Given the description of an element on the screen output the (x, y) to click on. 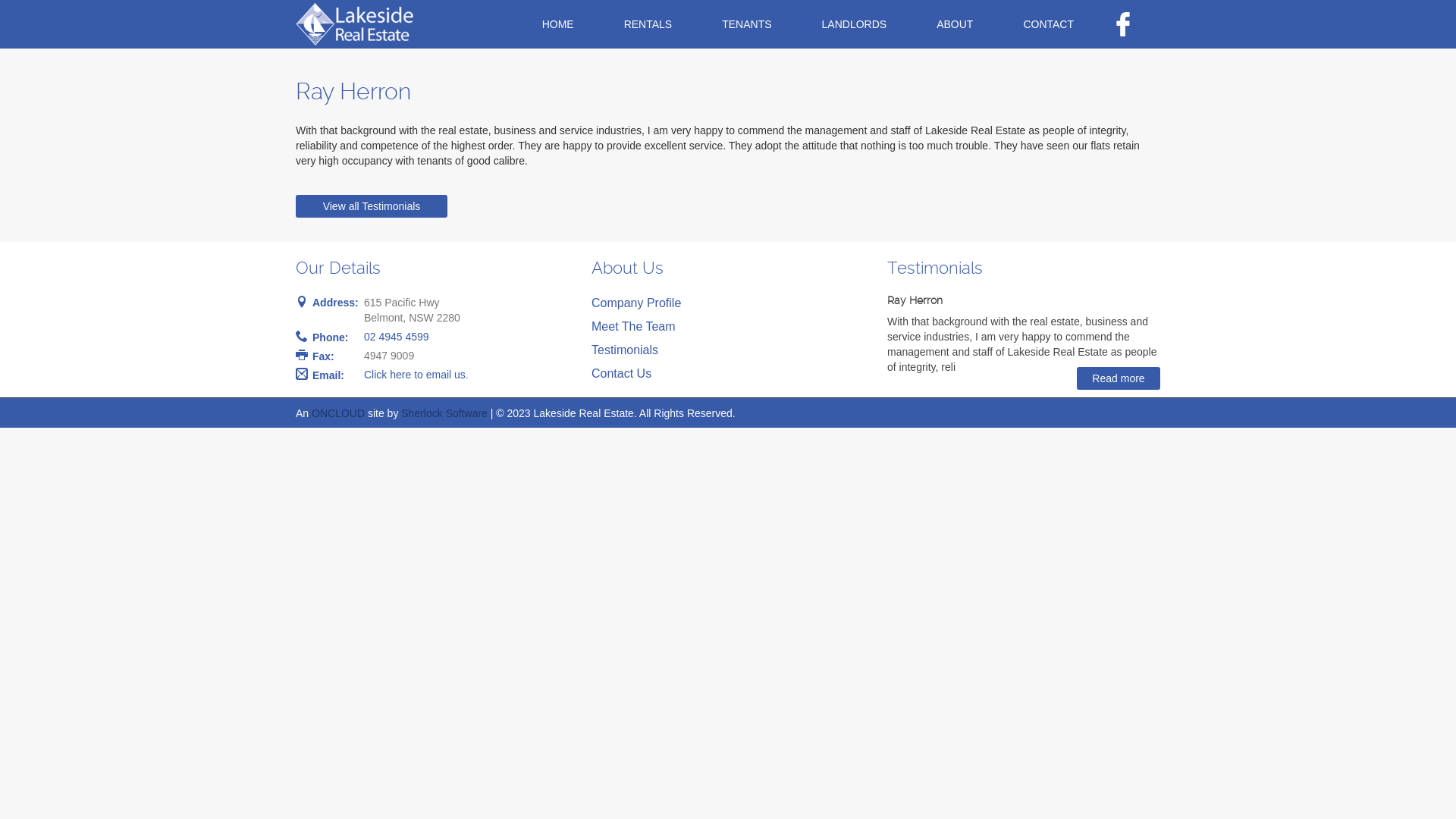
Meet The Team Element type: text (633, 326)
CONTACT Element type: text (1047, 24)
ABOUT Element type: text (954, 24)
Testimonials Element type: text (624, 349)
RENTALS Element type: text (648, 24)
View all Testimonials Element type: text (371, 205)
TENANTS Element type: text (746, 24)
LANDLORDS Element type: text (854, 24)
ONCLOUD Element type: text (337, 413)
Lakeside Real Estate Element type: text (356, 24)
Company Profile Element type: text (635, 302)
F Element type: text (1123, 24)
02 4945 4599 Element type: text (396, 336)
Click here to email us Element type: text (414, 374)
HOME Element type: text (558, 24)
Read more Element type: text (1118, 378)
Contact Us Element type: text (621, 373)
Sherlock Software Element type: text (444, 413)
